Given the description of an element on the screen output the (x, y) to click on. 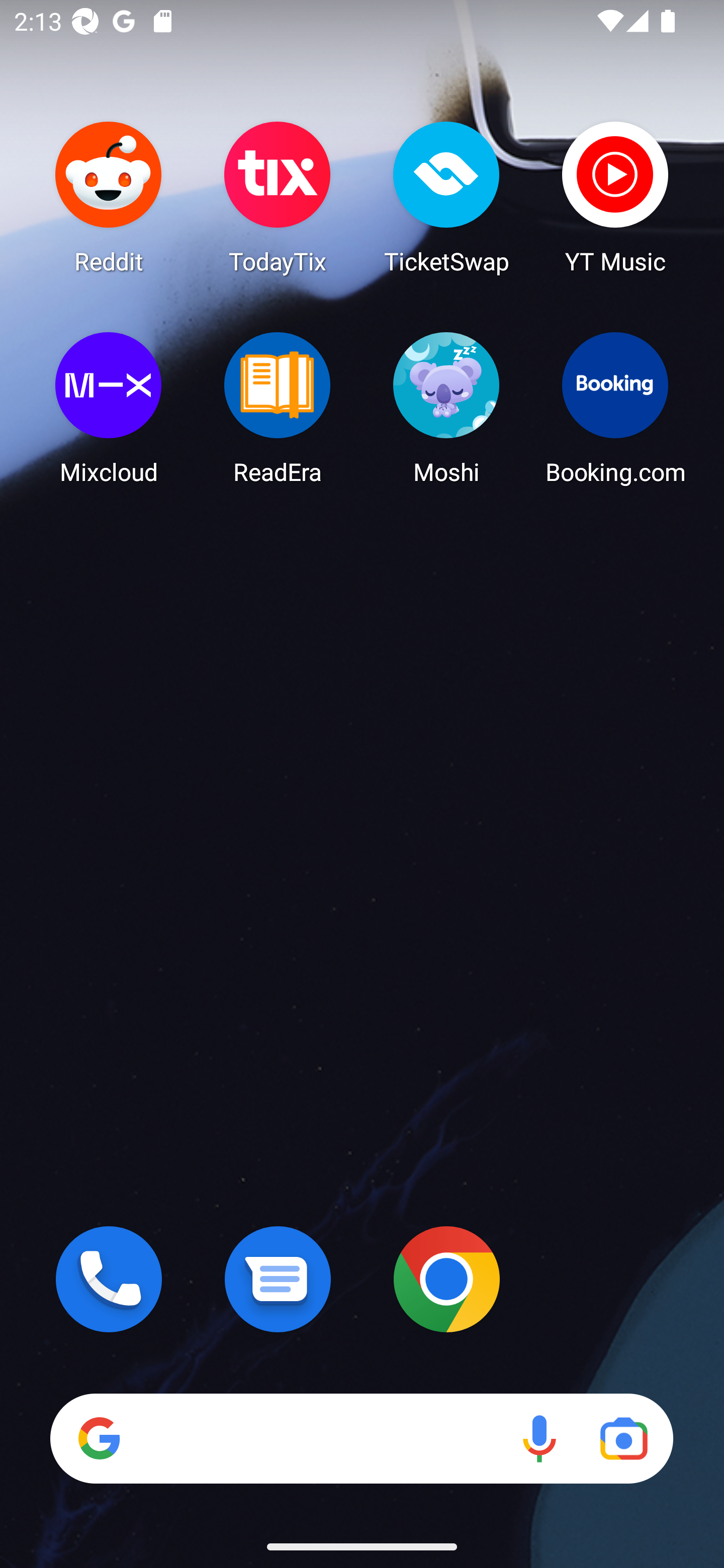
Reddit (108, 196)
TodayTix (277, 196)
TicketSwap (445, 196)
YT Music (615, 196)
Mixcloud (108, 407)
ReadEra (277, 407)
Moshi (445, 407)
Booking.com (615, 407)
Phone (108, 1279)
Messages (277, 1279)
Chrome (446, 1279)
Search Voice search Google Lens (361, 1438)
Voice search (539, 1438)
Google Lens (623, 1438)
